Given the description of an element on the screen output the (x, y) to click on. 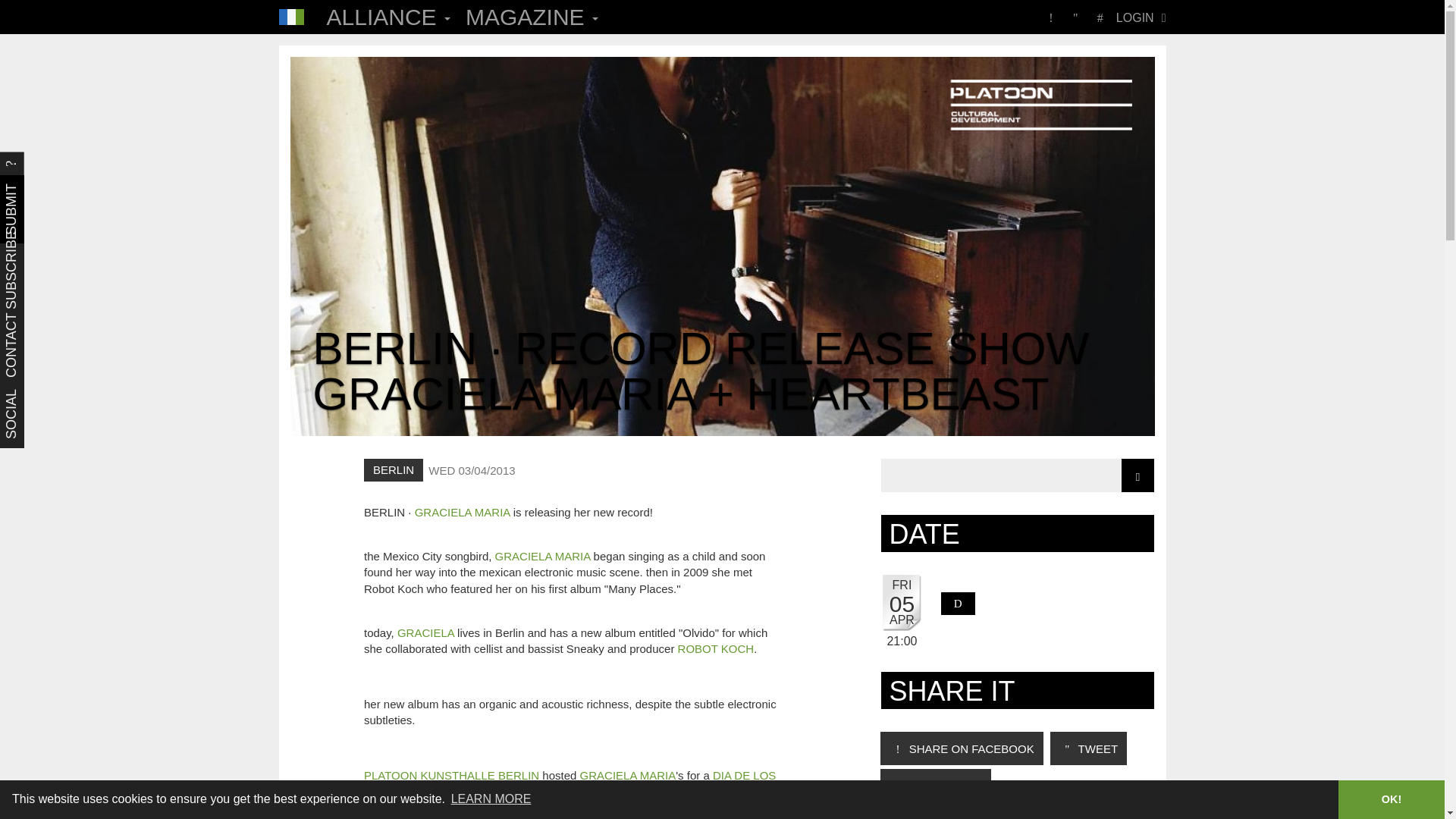
 TWEET (1087, 748)
BERLIN (393, 469)
ROBOT KOCH (716, 648)
LOGIN (1134, 16)
GRACIELA (425, 632)
Download iCal (957, 603)
PLATOON KUNSTHALLE BERLIN (451, 775)
LEARN MORE (490, 798)
MAGAZINE (531, 16)
 SHARE ON FACEBOOK (961, 748)
ALLIANCE (387, 16)
GRACIELA MARIA (543, 555)
GRACIELA MARIA (462, 512)
GRACIELA MARIA (628, 775)
DIA DE LOS MUERTOS (570, 783)
